Given the description of an element on the screen output the (x, y) to click on. 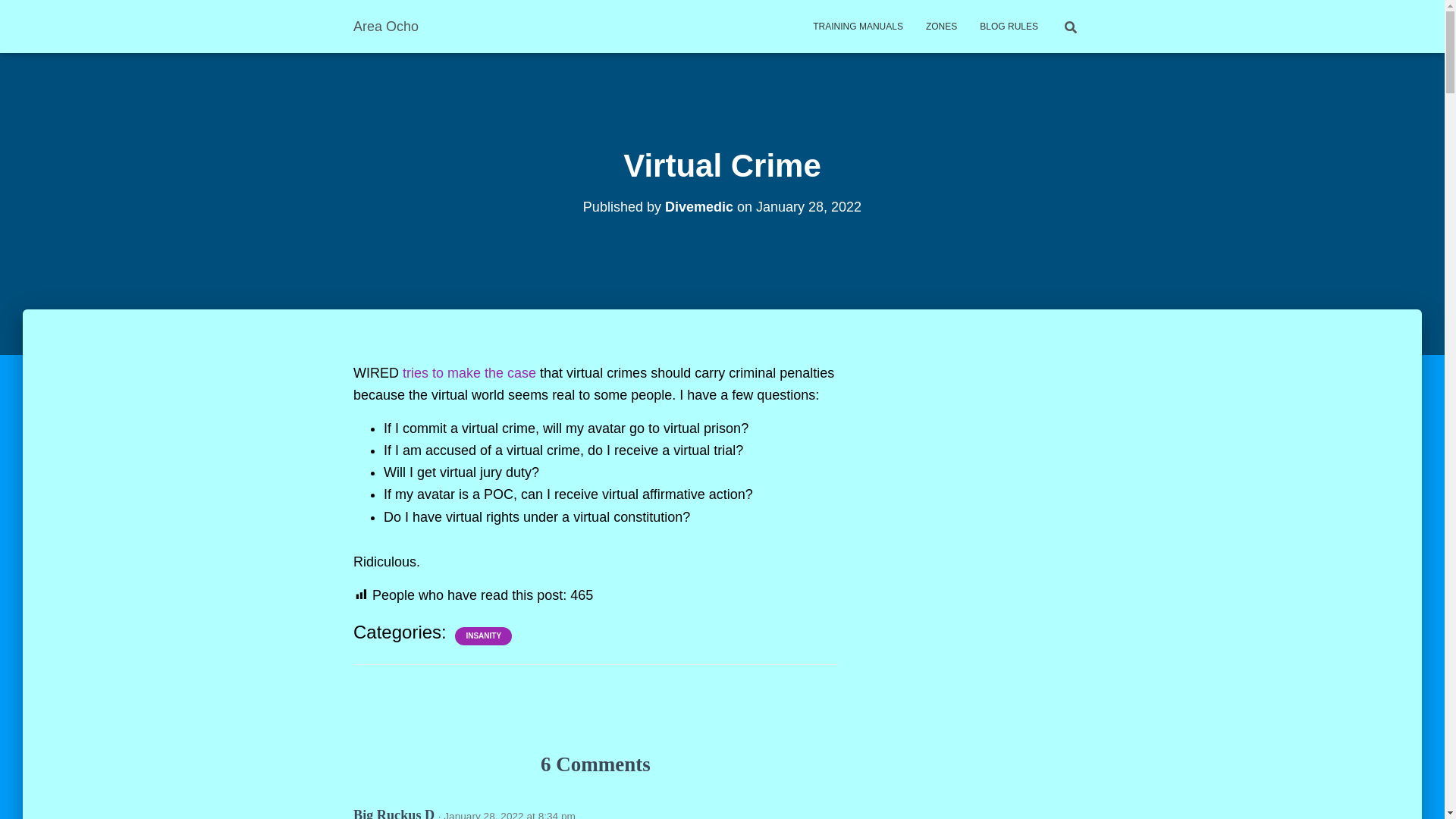
BLOG RULES (1008, 26)
Area Ocho (385, 26)
Training Manuals (858, 26)
INSANITY (483, 635)
Divemedic (699, 206)
tries to make the case (469, 372)
Zones (941, 26)
Area Ocho (385, 26)
Blog Rules (1008, 26)
ZONES (941, 26)
TRAINING MANUALS (858, 26)
